Given the description of an element on the screen output the (x, y) to click on. 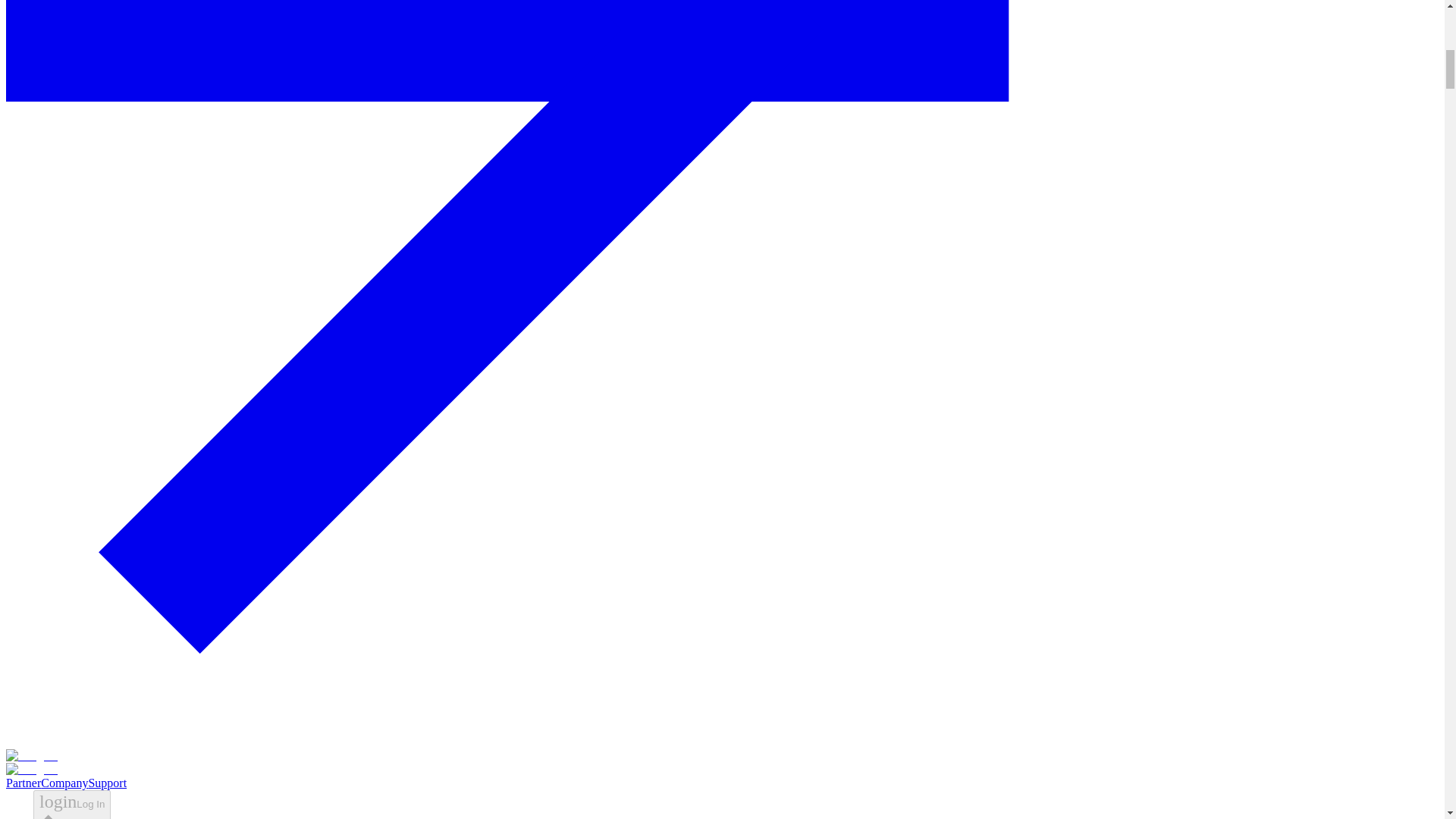
Support (106, 782)
loginLog In (71, 804)
Company (63, 782)
Partner (22, 782)
